Given the description of an element on the screen output the (x, y) to click on. 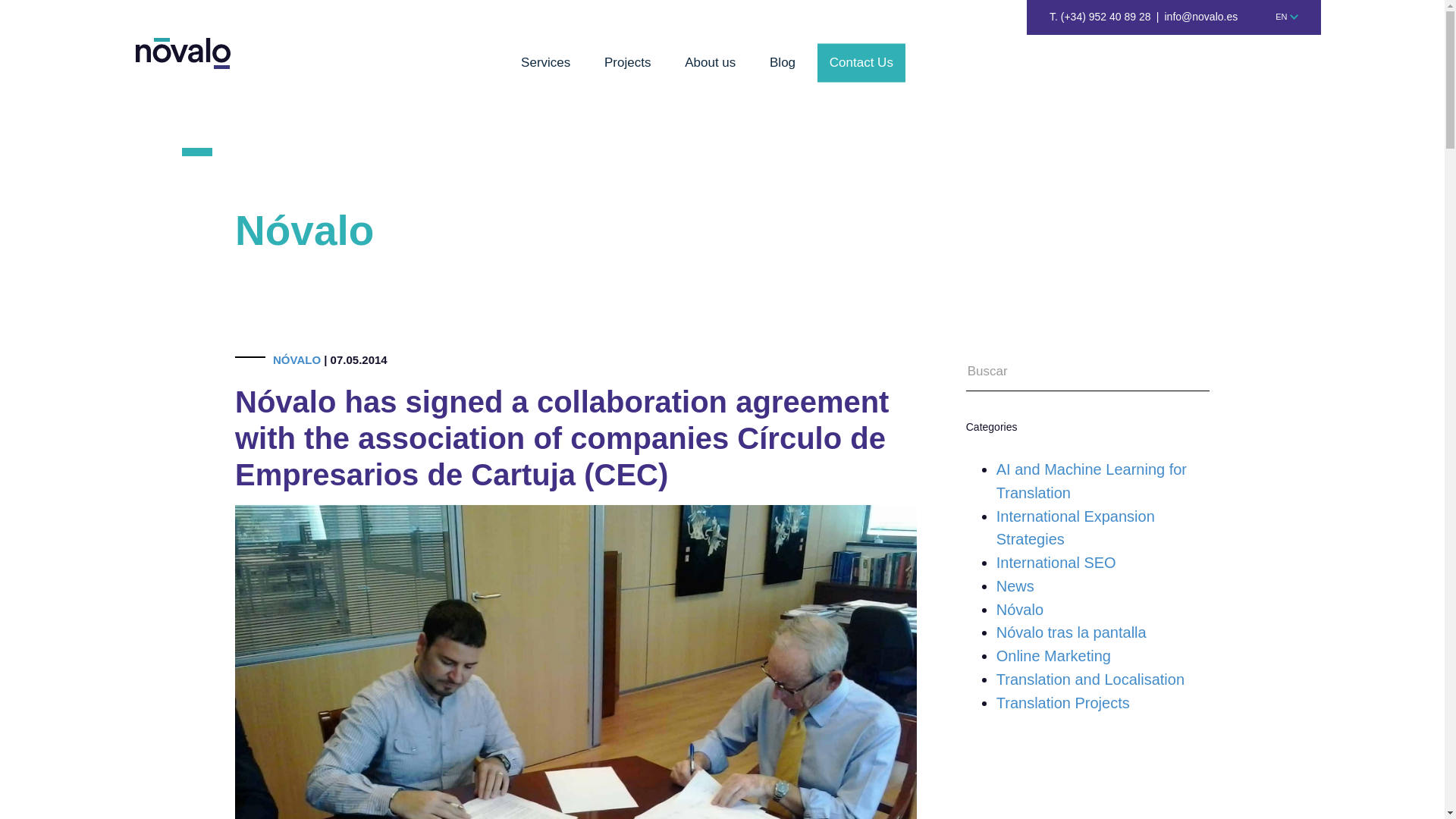
About us (709, 67)
Contact Us (861, 63)
Projects (627, 67)
Blog (782, 67)
Services (545, 67)
